Given the description of an element on the screen output the (x, y) to click on. 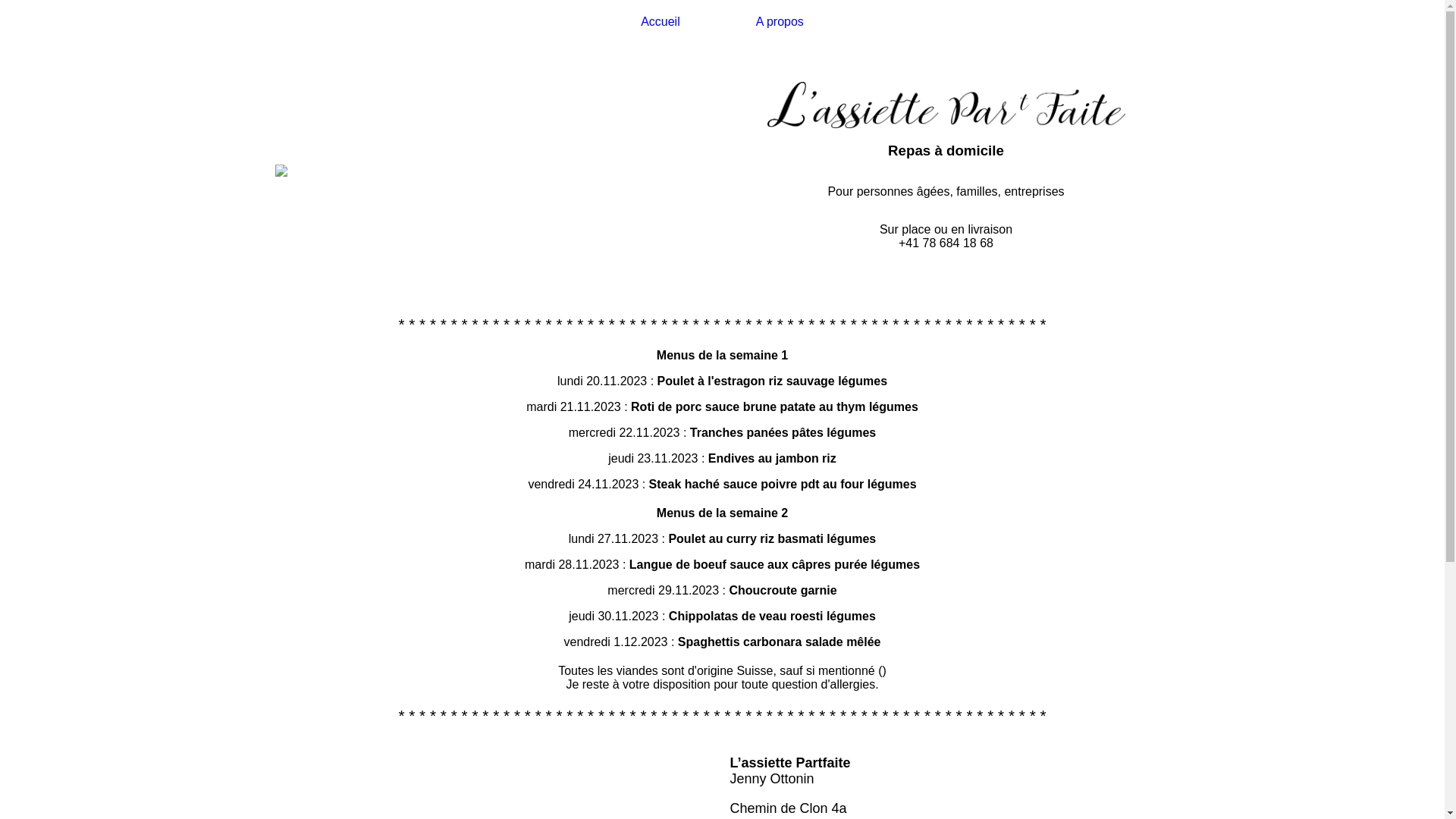
Accueil Element type: text (660, 21)
A propos Element type: text (779, 21)
